Given the description of an element on the screen output the (x, y) to click on. 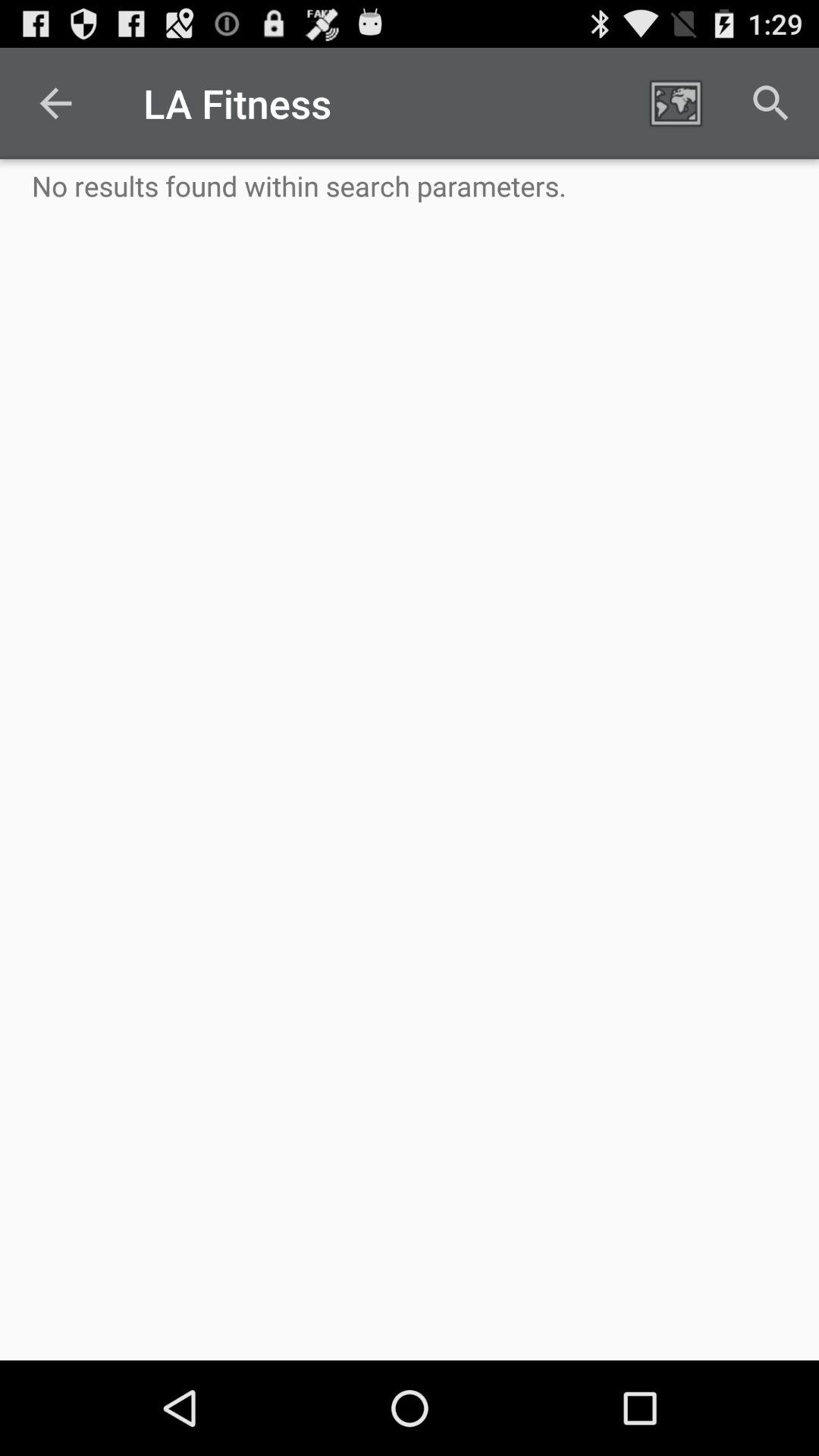
press the icon next to la fitness (675, 103)
